Given the description of an element on the screen output the (x, y) to click on. 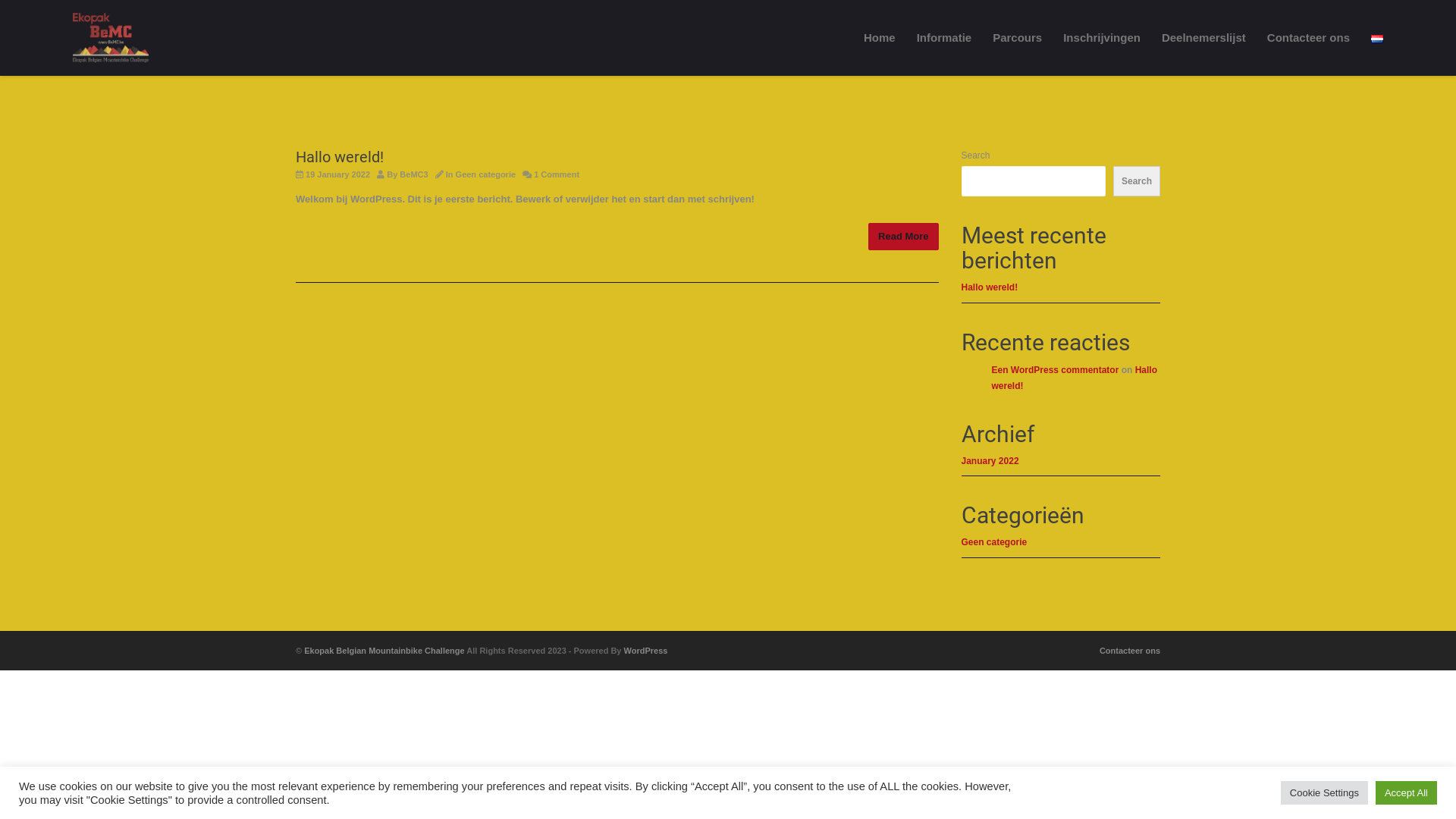
Search Element type: text (1136, 181)
January 2022 Element type: text (990, 460)
Informatie Element type: text (944, 37)
Read More Element type: text (903, 236)
Hallo wereld! Element type: text (339, 156)
Contacteer ons Element type: text (1129, 650)
Hallo wereld! Element type: text (1074, 378)
Inschrijvingen Element type: text (1101, 37)
Parcours Element type: text (1017, 37)
Cookie Settings Element type: text (1324, 792)
Een WordPress commentator Element type: text (1055, 369)
Contacteer ons Element type: text (1308, 37)
Deelnemerslijst Element type: text (1203, 37)
Home Element type: text (879, 37)
Geen categorie Element type: text (485, 173)
BeMC3 Element type: text (413, 173)
WordPress Element type: text (646, 650)
Hallo wereld! Element type: text (989, 287)
Accept All Element type: text (1406, 792)
Ekopak Belgian Mountainbike Challenge Element type: text (384, 650)
Geen categorie Element type: text (994, 541)
